Given the description of an element on the screen output the (x, y) to click on. 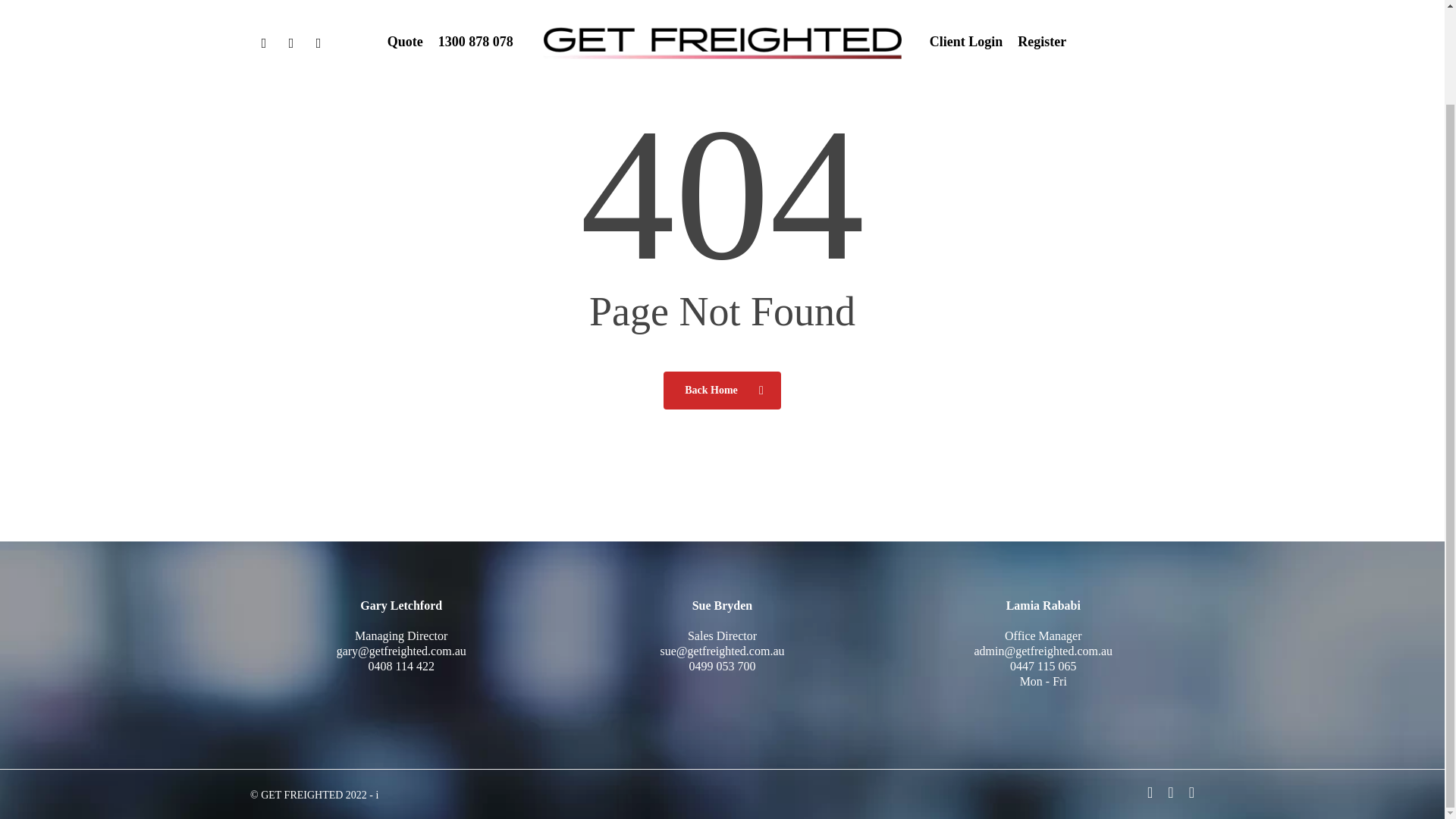
0408 114 422 (400, 666)
0447 115 065 (1042, 666)
0499 053 700 (721, 666)
Back Home (721, 389)
